Given the description of an element on the screen output the (x, y) to click on. 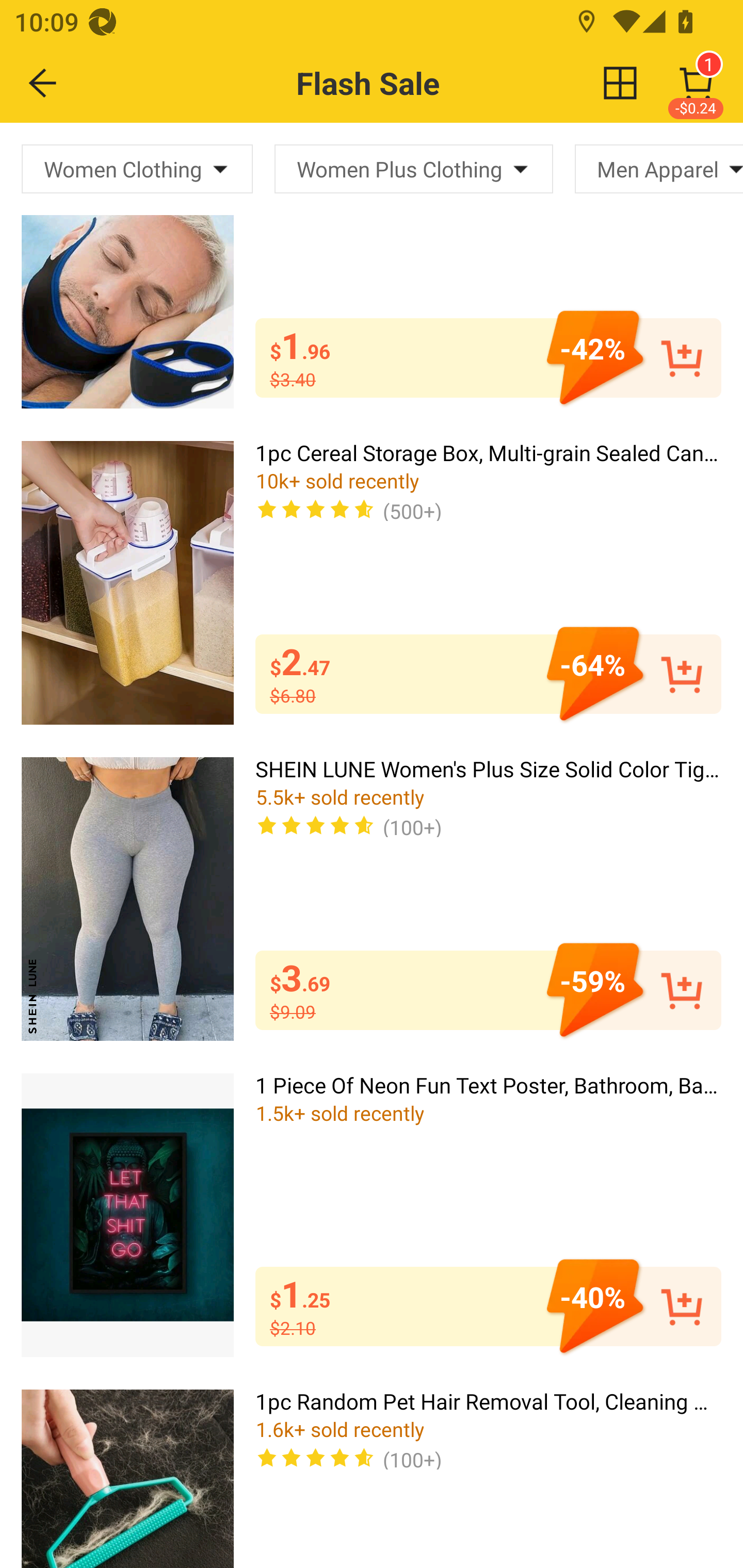
Flash Sale change view 1 -$0.24 (414, 82)
1 -$0.24 (695, 82)
change view (620, 82)
BACK (43, 83)
Women Clothing (136, 168)
Women Plus Clothing (413, 168)
Men Apparel (659, 168)
